Given the description of an element on the screen output the (x, y) to click on. 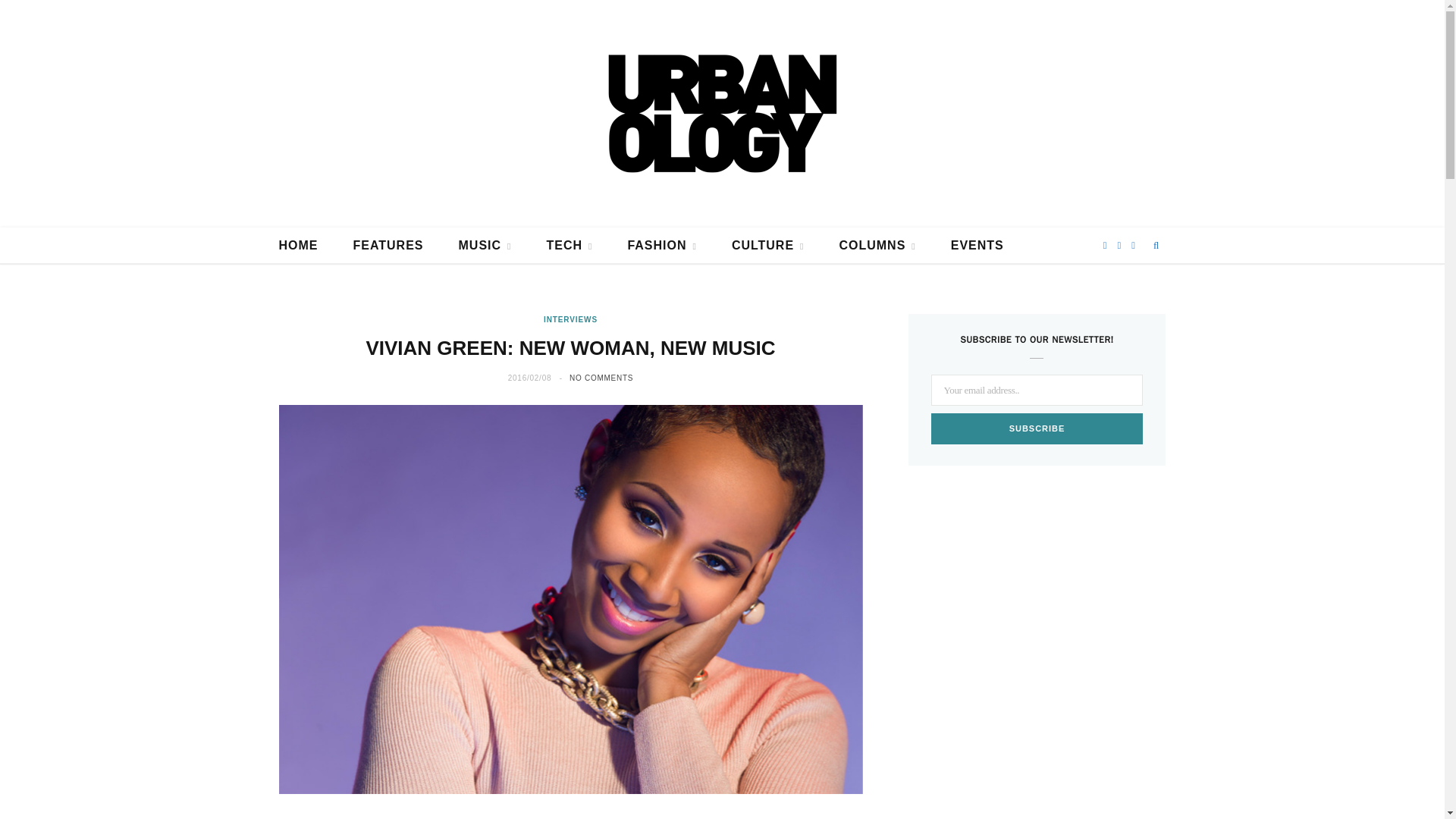
Subscribe (1036, 428)
NO COMMENTS (601, 377)
INTERVIEWS (569, 319)
TECH (568, 245)
HOME (297, 245)
EVENTS (977, 245)
MUSIC (484, 245)
FEATURES (388, 245)
FASHION (661, 245)
CULTURE (768, 245)
COLUMNS (877, 245)
Urbanology Magazine (722, 113)
